Given the description of an element on the screen output the (x, y) to click on. 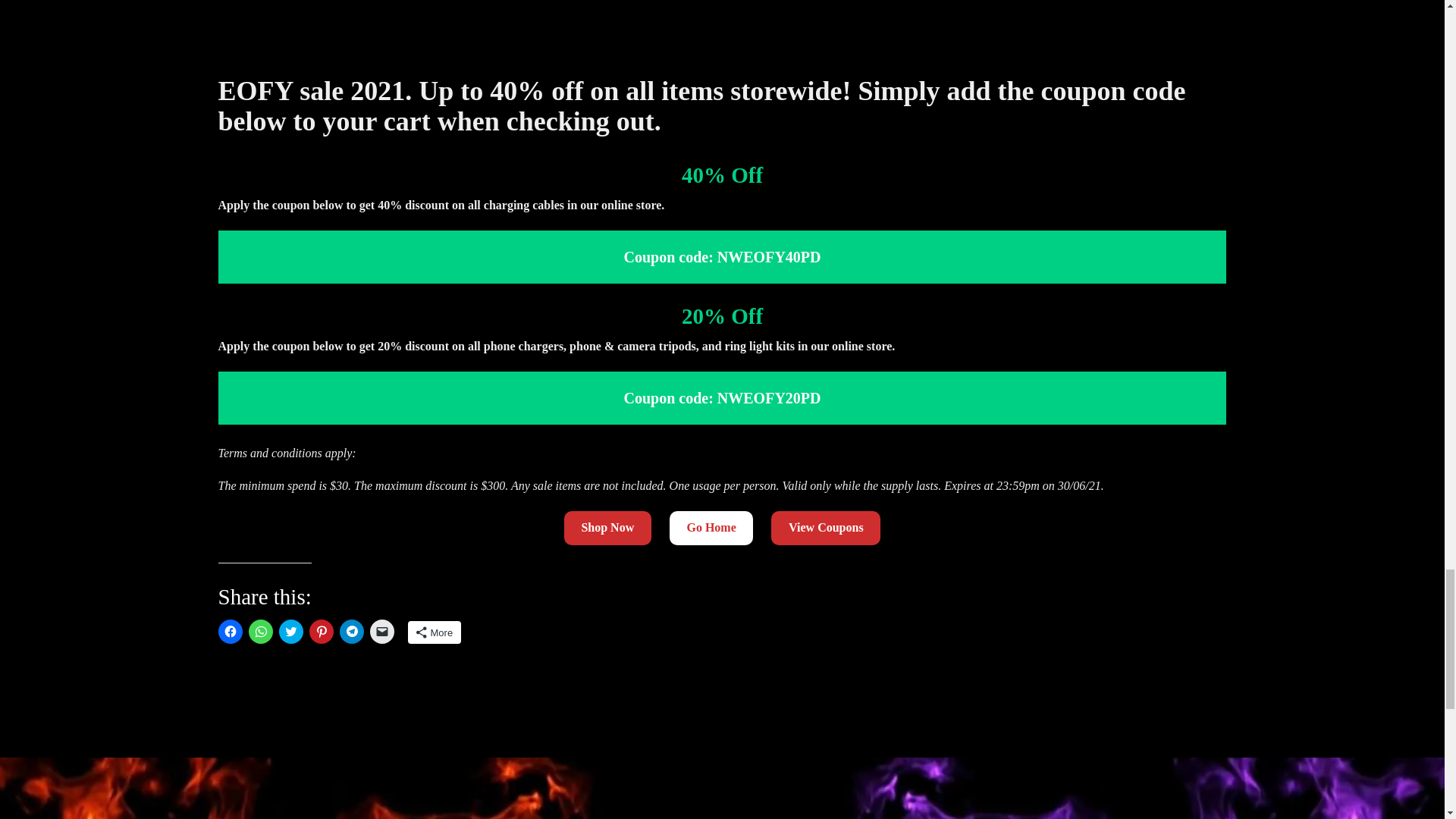
Click to share on Twitter (290, 631)
Click to share on Facebook (230, 631)
Click to share on WhatsApp (260, 631)
Black Friday Sale 2021 2 (722, 28)
Click to share on Pinterest (320, 631)
